Given the description of an element on the screen output the (x, y) to click on. 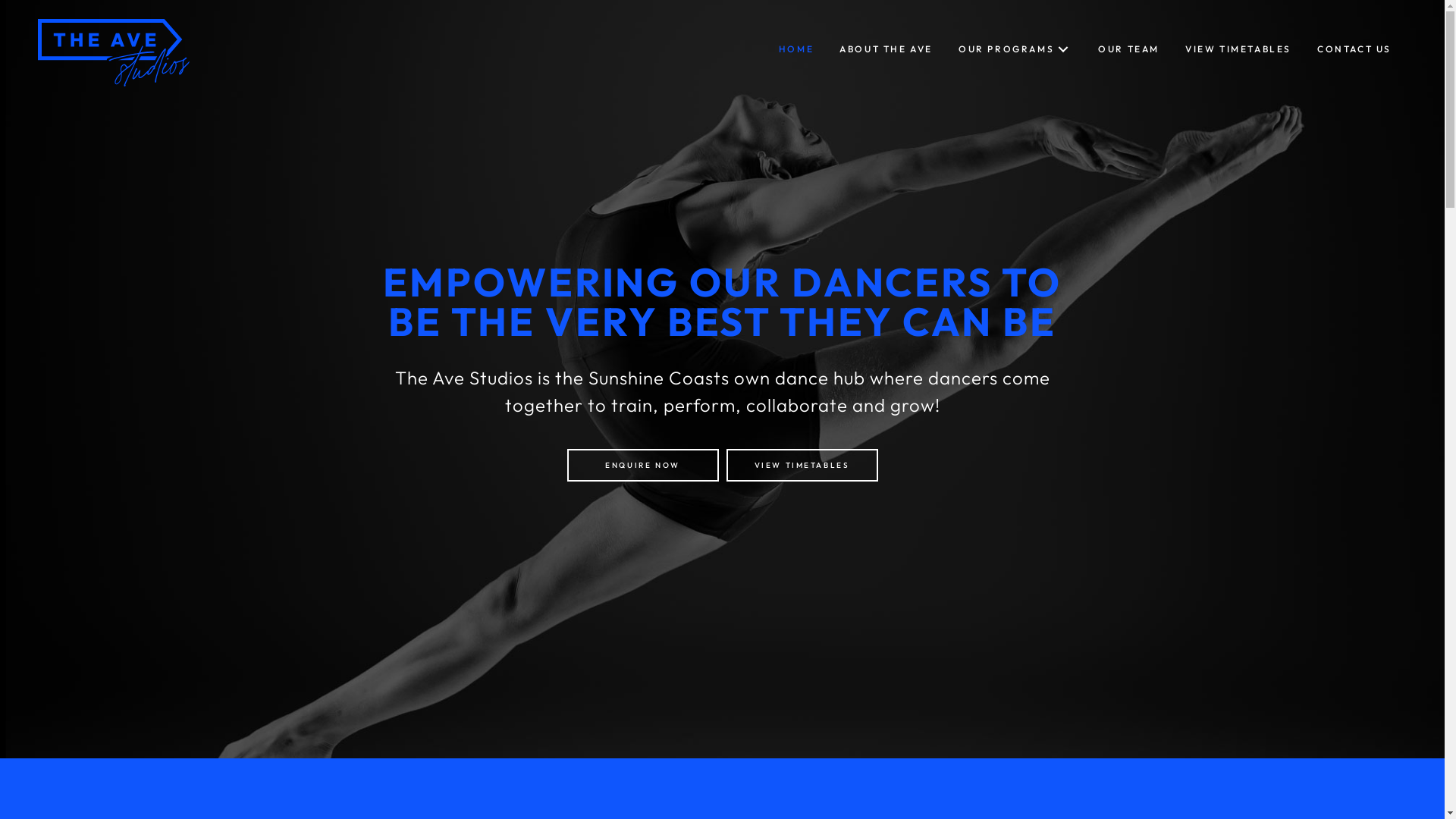
ENQUIRE NOW Element type: text (642, 464)
HOME Element type: text (796, 49)
OUR PROGRAMS Element type: text (1014, 49)
VIEW TIMETABLES Element type: text (802, 464)
VIEW TIMETABLES Element type: text (1238, 49)
the-ave-studios-logo-full-color-rgb Element type: hover (113, 52)
OUR TEAM Element type: text (1128, 49)
CONTACT US Element type: text (1354, 49)
ABOUT THE AVE Element type: text (885, 49)
